Given the description of an element on the screen output the (x, y) to click on. 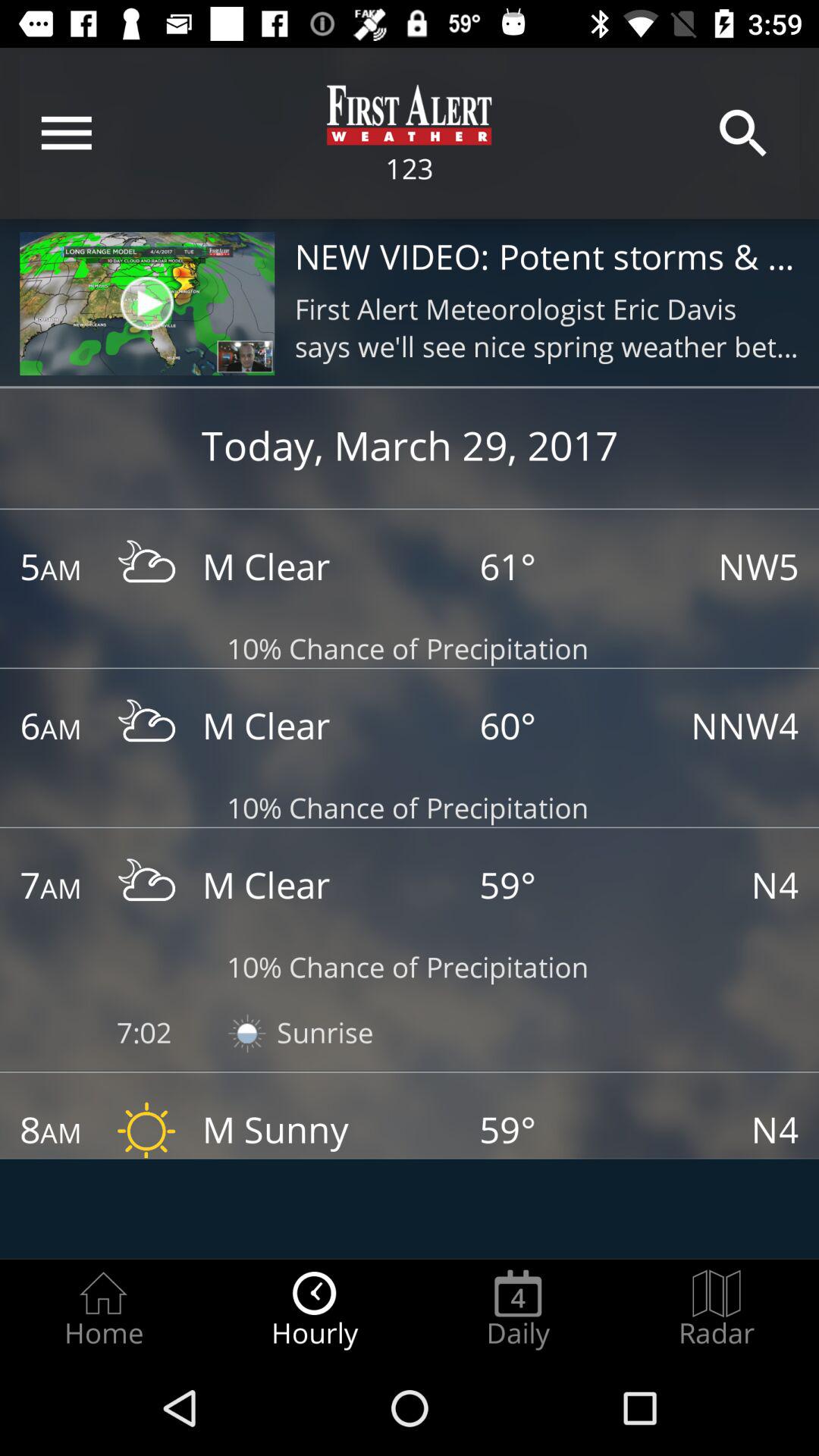
click item next to hourly item (103, 1309)
